Given the description of an element on the screen output the (x, y) to click on. 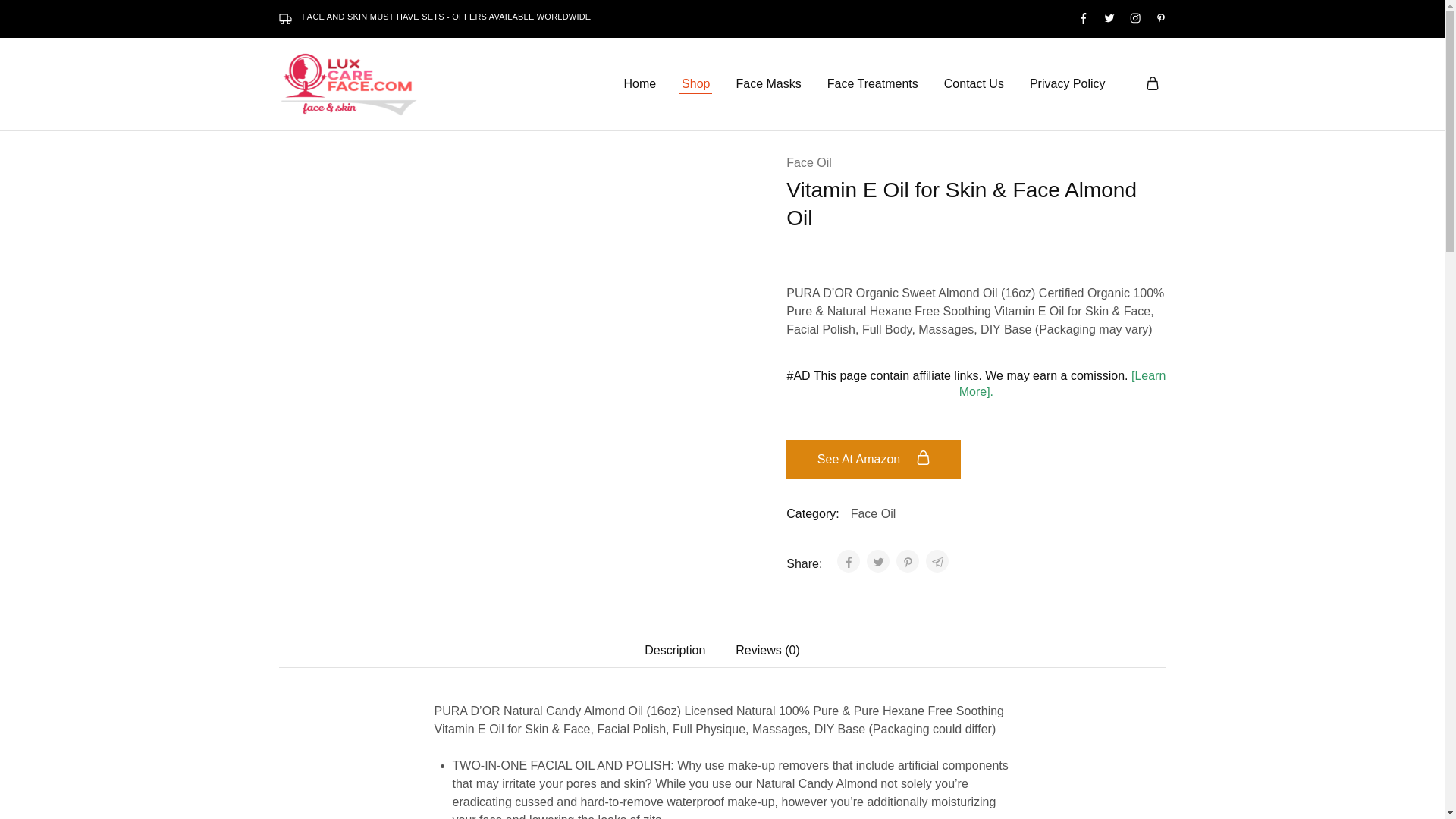
Description (674, 650)
Privacy Policy (1067, 84)
Face Treatments (872, 84)
Face Oil (808, 162)
Face Masks (768, 84)
Contact Us (974, 84)
Face Oil (873, 513)
Home (639, 84)
See At Amazon (873, 458)
Shop (695, 84)
